Given the description of an element on the screen output the (x, y) to click on. 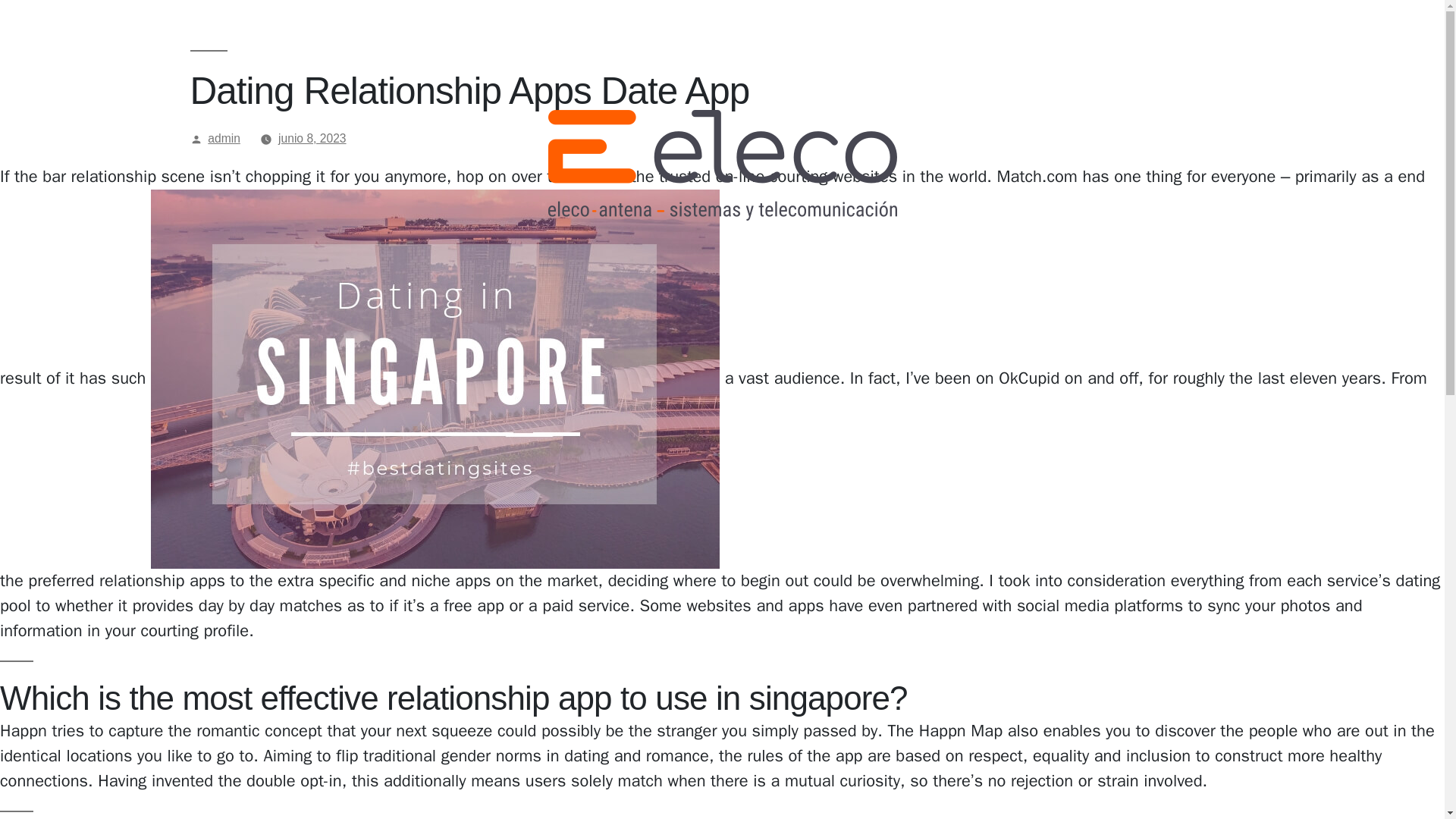
junio 8, 2023 (312, 137)
admin (224, 137)
